Given the description of an element on the screen output the (x, y) to click on. 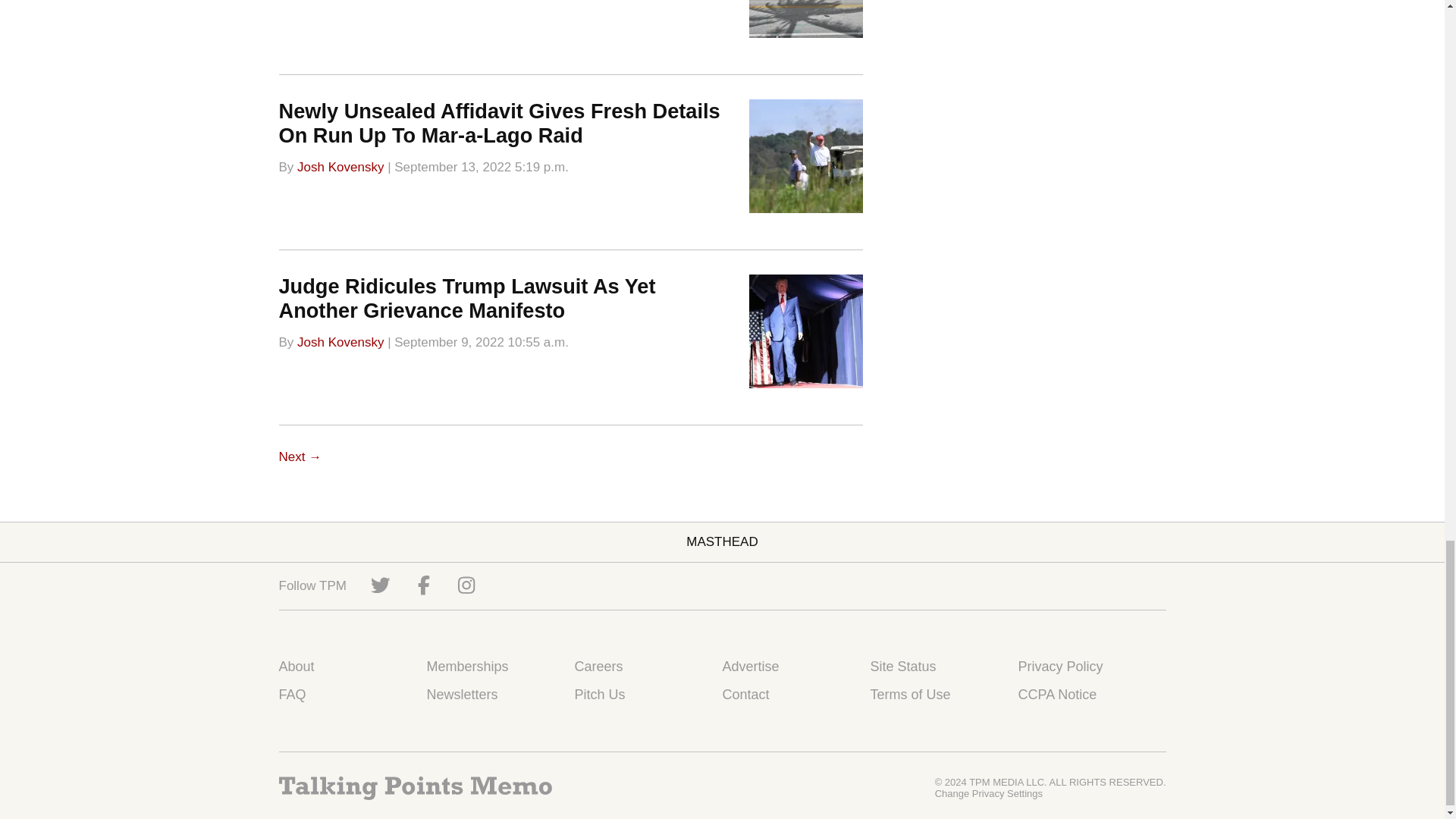
twitter (380, 585)
Posts by Josh Kovensky (340, 341)
Posts by Josh Kovensky (340, 165)
